Given the description of an element on the screen output the (x, y) to click on. 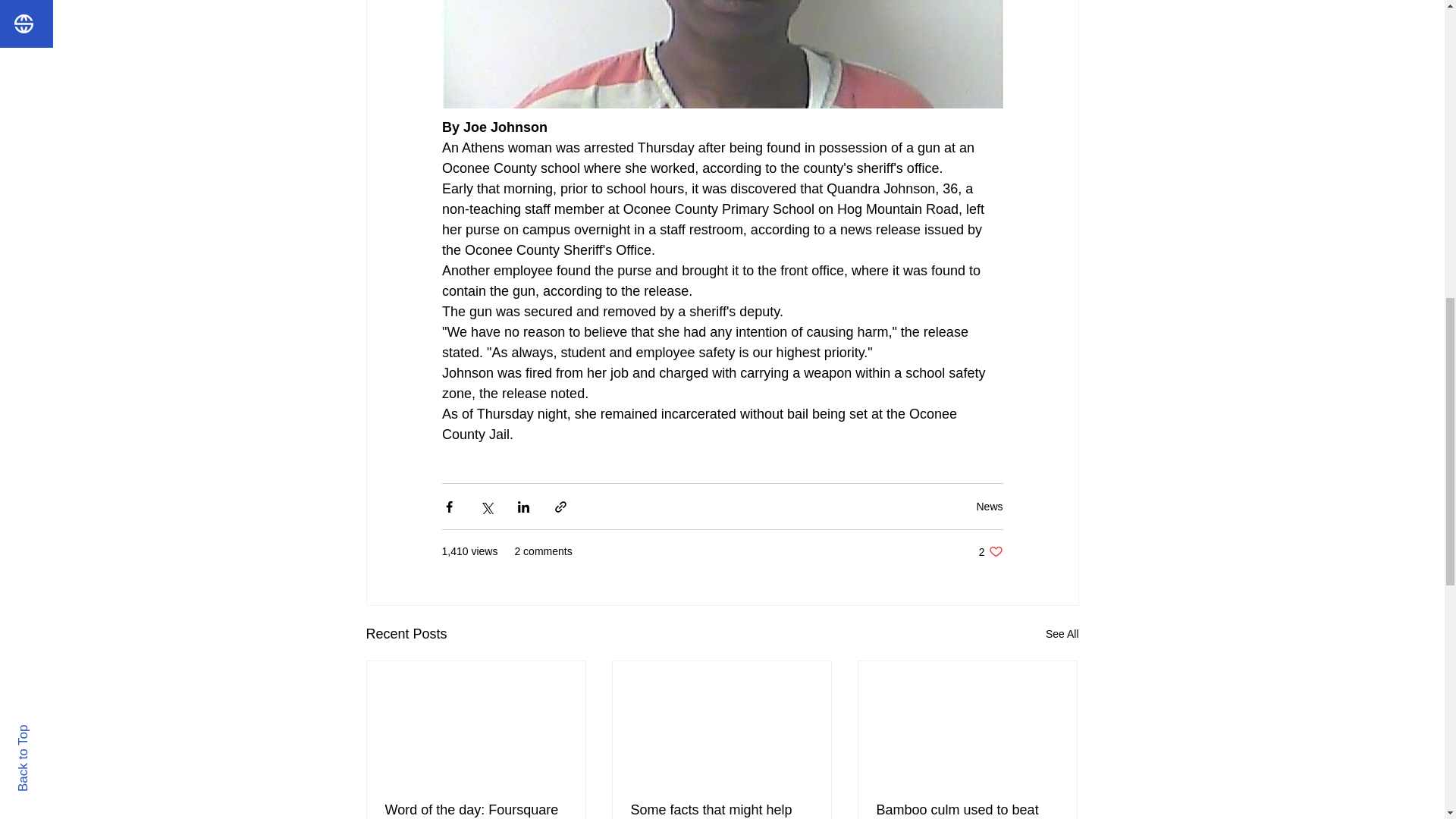
See All (1061, 634)
Word of the day: Foursquare (990, 551)
News (476, 810)
